Given the description of an element on the screen output the (x, y) to click on. 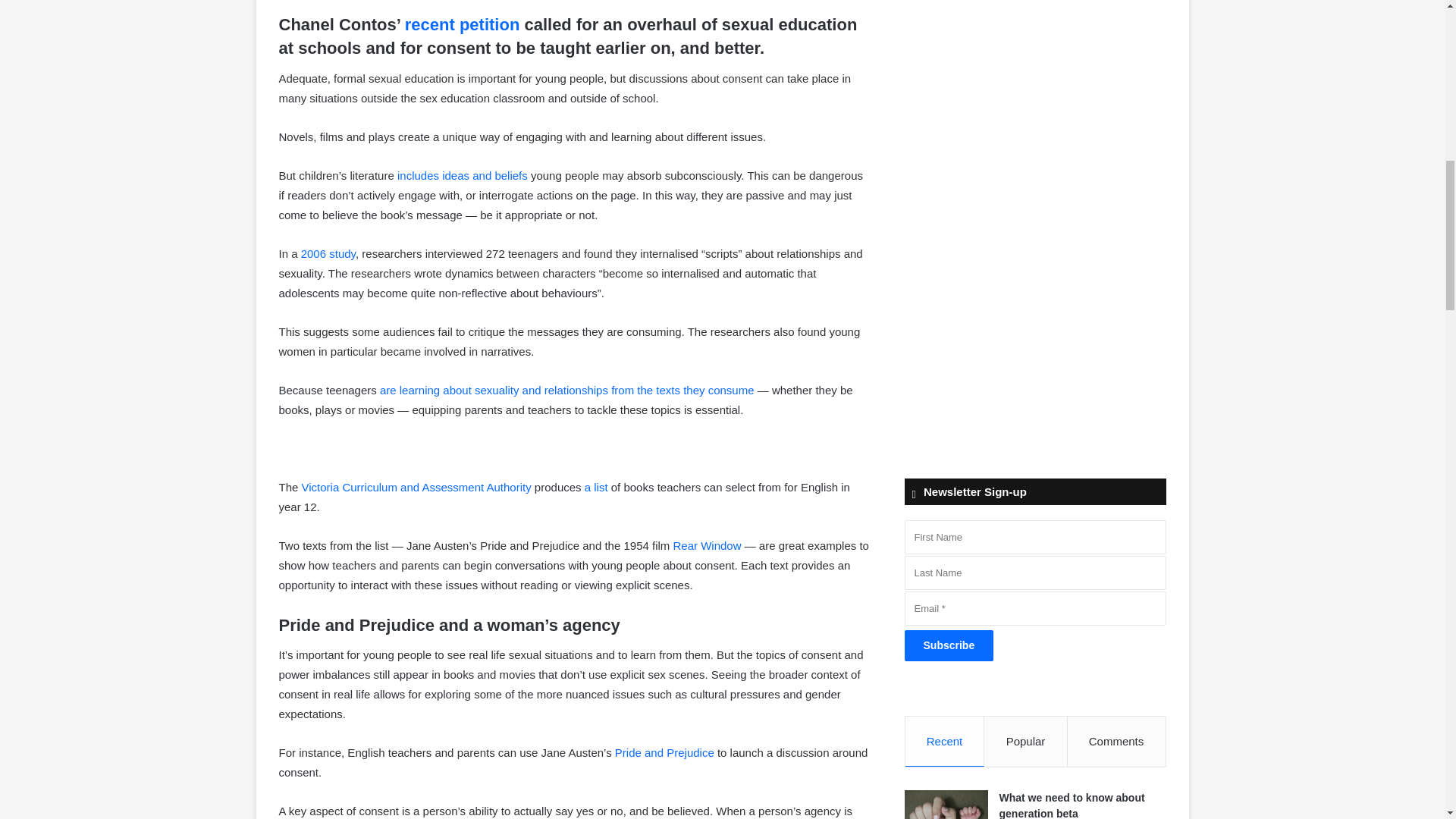
3rd party ad content (1034, 2)
a list (596, 486)
recent petition (461, 24)
Subscribe (949, 644)
Rear Window (706, 545)
Pride and Prejudice (664, 752)
3rd party ad content (1034, 319)
includes ideas and beliefs (462, 174)
Victoria Curriculum and Assessment Authority (416, 486)
2006 study (328, 253)
3rd party ad content (1034, 114)
